Given the description of an element on the screen output the (x, y) to click on. 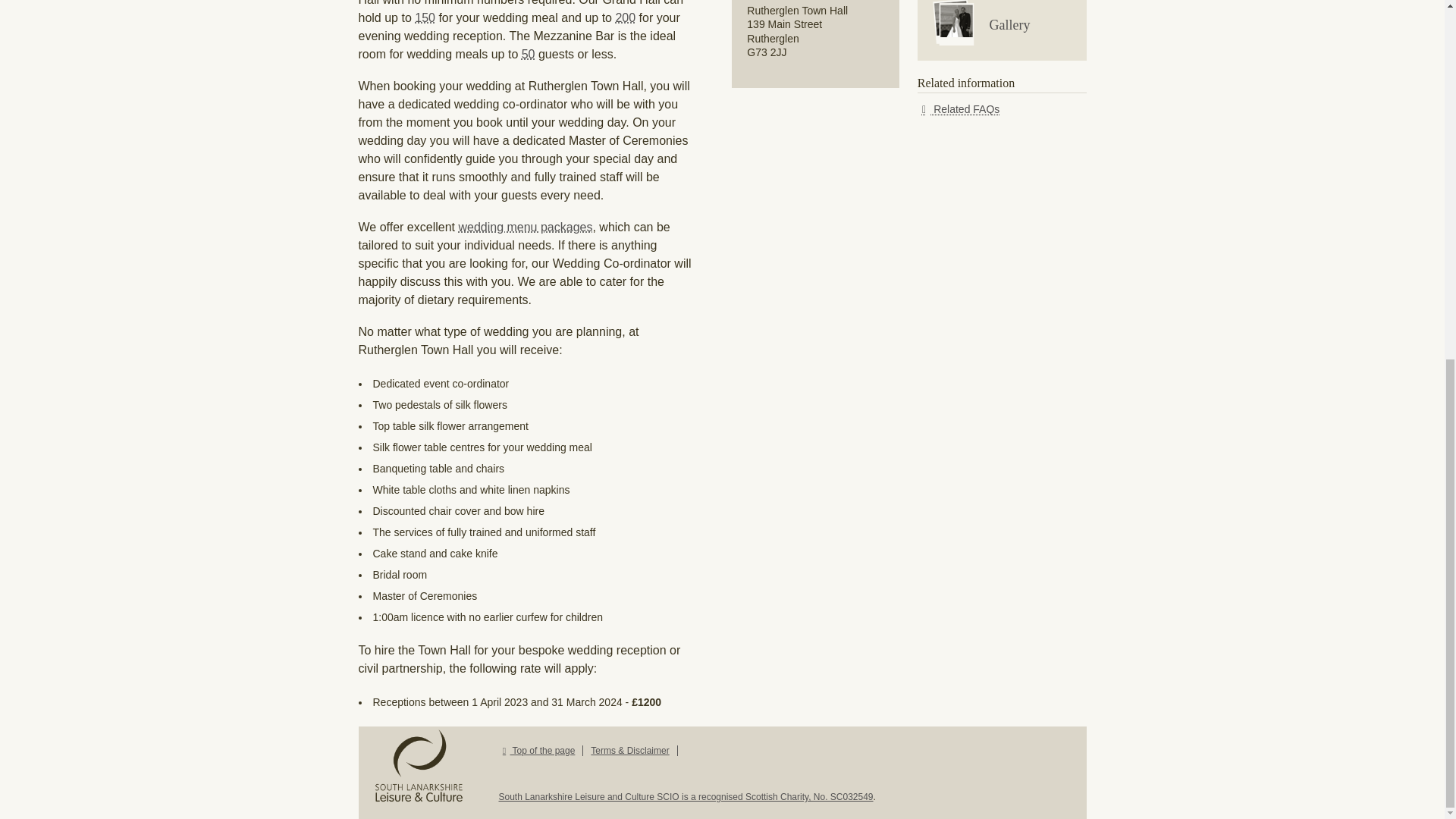
50 (528, 53)
Return to the top of the page (541, 750)
Link to table layouts at Rutherglen Town Hall weddings. (624, 17)
Terms and Disclaimer, access key 8 (630, 750)
wedding menu packages (525, 226)
200 (624, 17)
Related FAQs (958, 109)
Link to table layouts at Rutherglen Town Hall weddings. (424, 17)
Related FAQs. (958, 109)
Link to the Rutherglen Town Hall wedding menu page (525, 226)
